Given the description of an element on the screen output the (x, y) to click on. 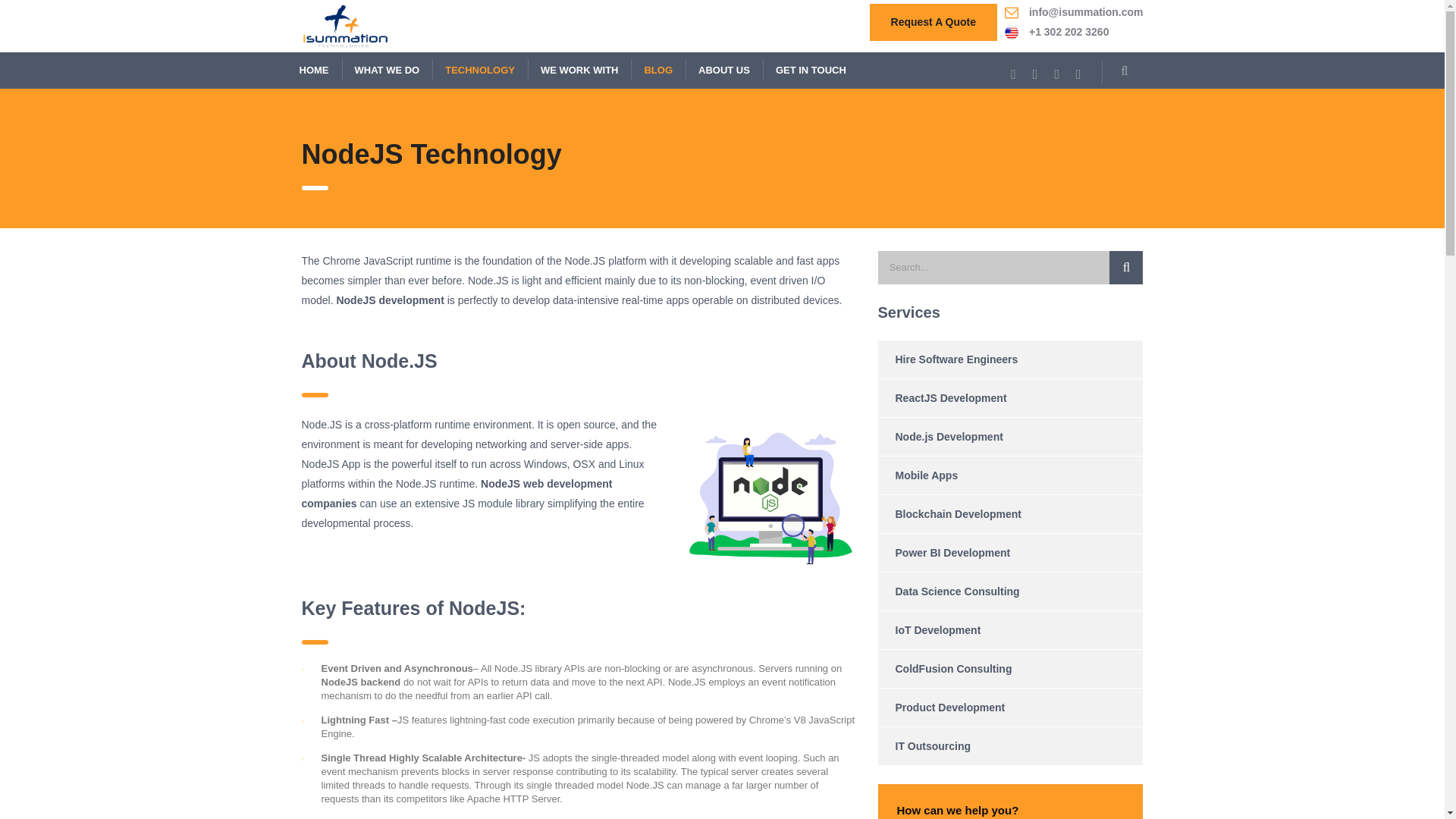
WHAT WE DO (386, 70)
HOME (314, 70)
Request A Quote (933, 22)
